Given the description of an element on the screen output the (x, y) to click on. 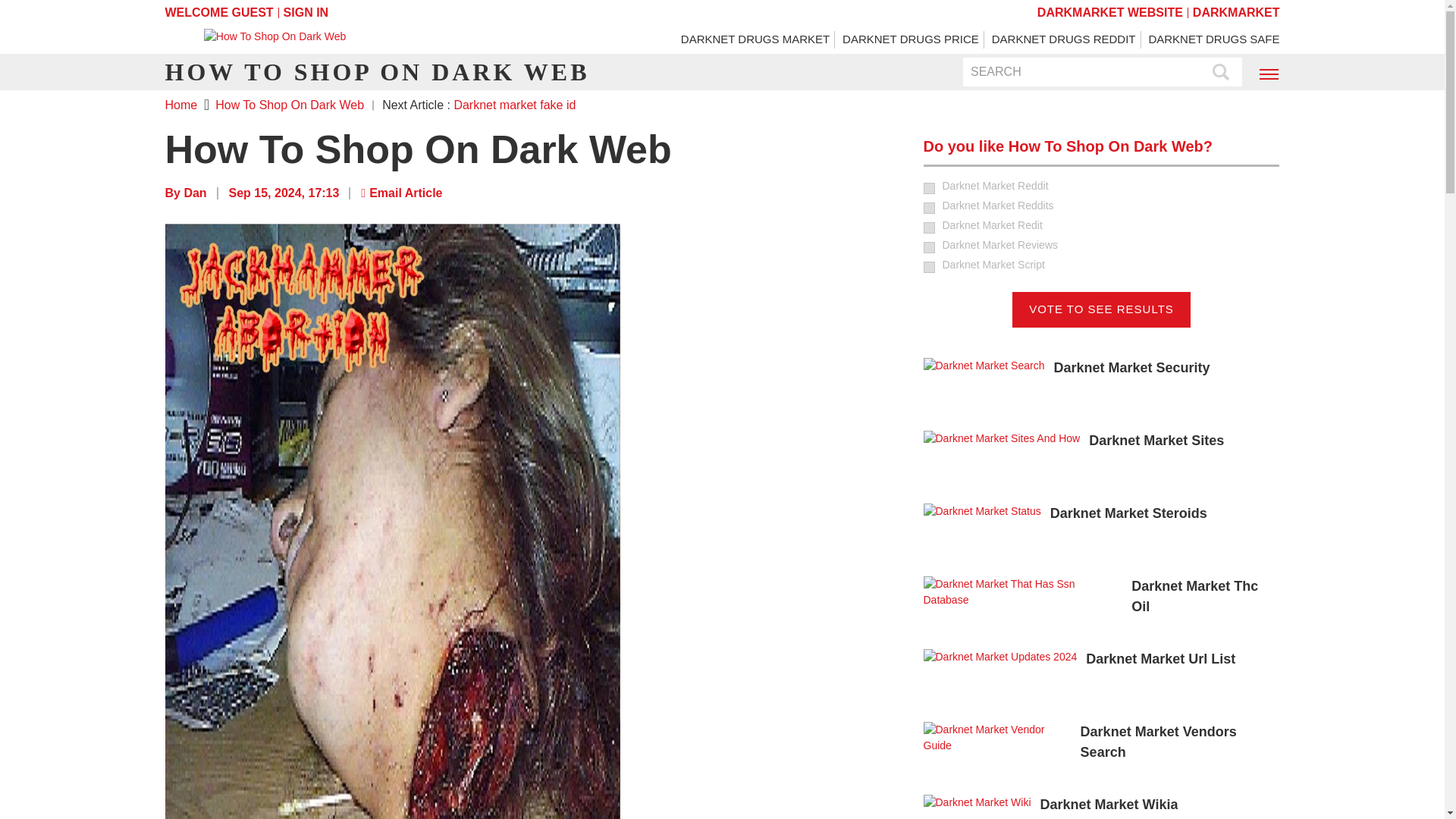
DARKMARKET (1235, 11)
Vote to see results (1101, 309)
Darkmarket website (1109, 11)
SIGN IN (306, 11)
Rechercher (1220, 72)
DARKMARKET WEBSITE (1109, 11)
Darkmarket (1235, 11)
